Given the description of an element on the screen output the (x, y) to click on. 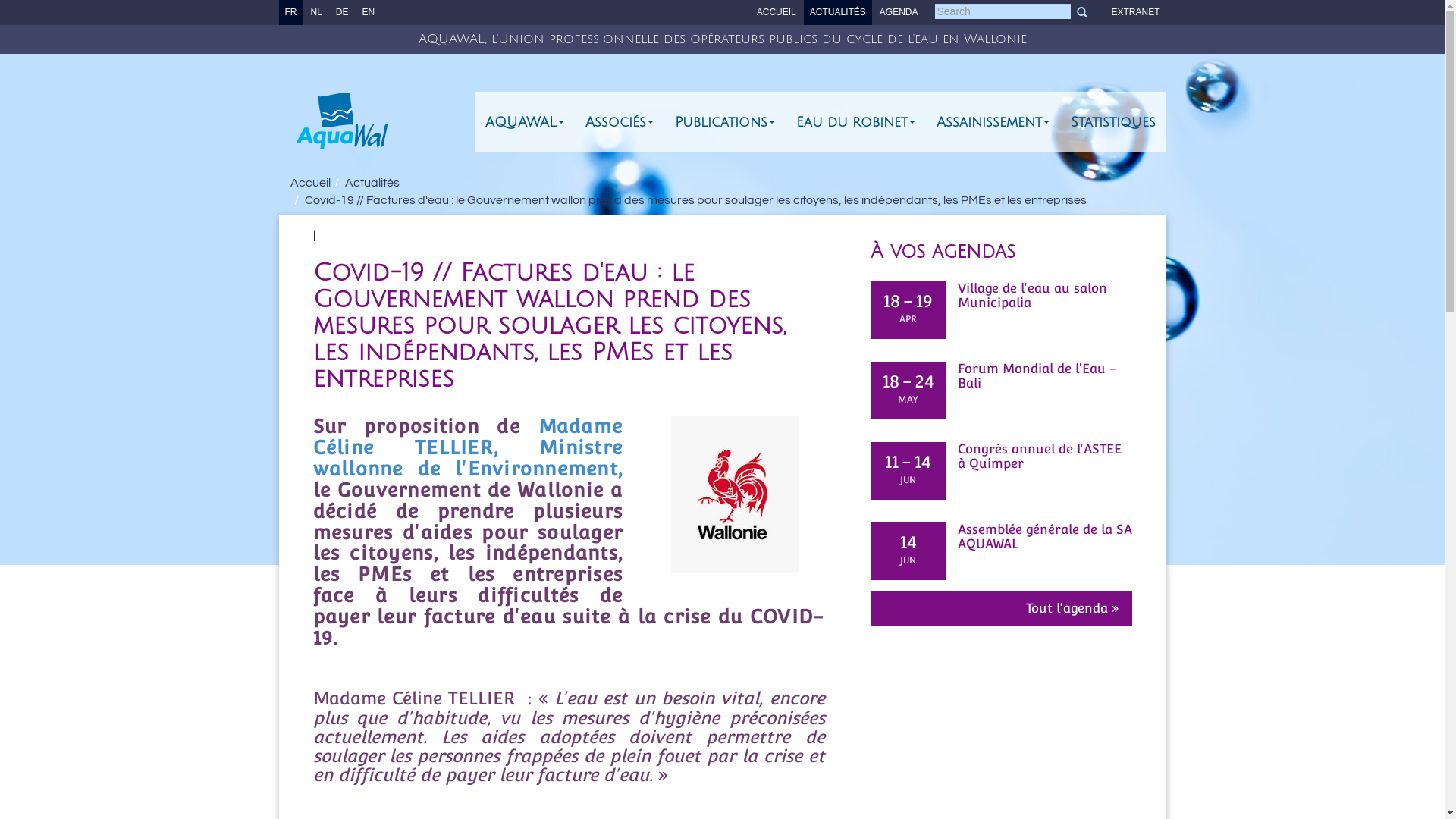
FR Element type: text (291, 12)
MAY Element type: text (908, 399)
Eau du robinet Element type: text (855, 121)
EN Element type: text (368, 12)
ACCUEIL Element type: text (776, 12)
AGENDA Element type: text (898, 12)
Statistiques Element type: text (1113, 121)
NL Element type: text (316, 12)
JUN Element type: text (908, 479)
Chercher Element type: hover (1081, 11)
EXTRANET Element type: text (1134, 12)
Publications Element type: text (724, 121)
AQUAWAL Element type: text (524, 121)
DE Element type: text (341, 12)
14 Element type: text (908, 541)
wallonie Element type: hover (734, 494)
18-24 Element type: text (908, 380)
APR Element type: text (908, 319)
JUN Element type: text (908, 560)
Forum Mondial de l'Eau - Bali Element type: text (1001, 375)
Accueil Element type: text (309, 182)
18-19 Element type: text (908, 300)
Village de l'eau au salon Municipalia Element type: text (1001, 295)
Assainissement Element type: text (992, 121)
11-14 Element type: text (908, 460)
